Given the description of an element on the screen output the (x, y) to click on. 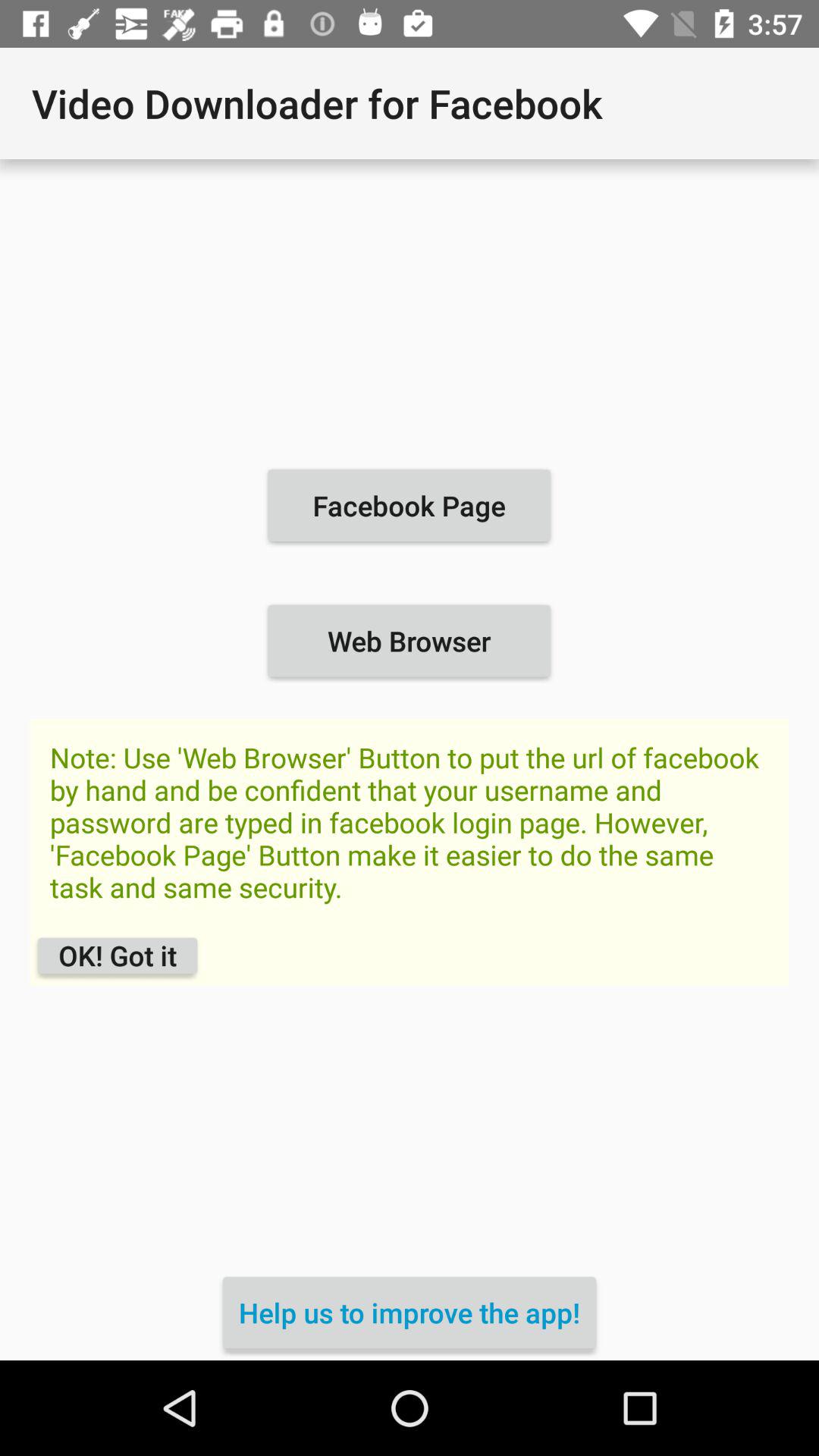
tap the icon below note use web icon (409, 1312)
